Given the description of an element on the screen output the (x, y) to click on. 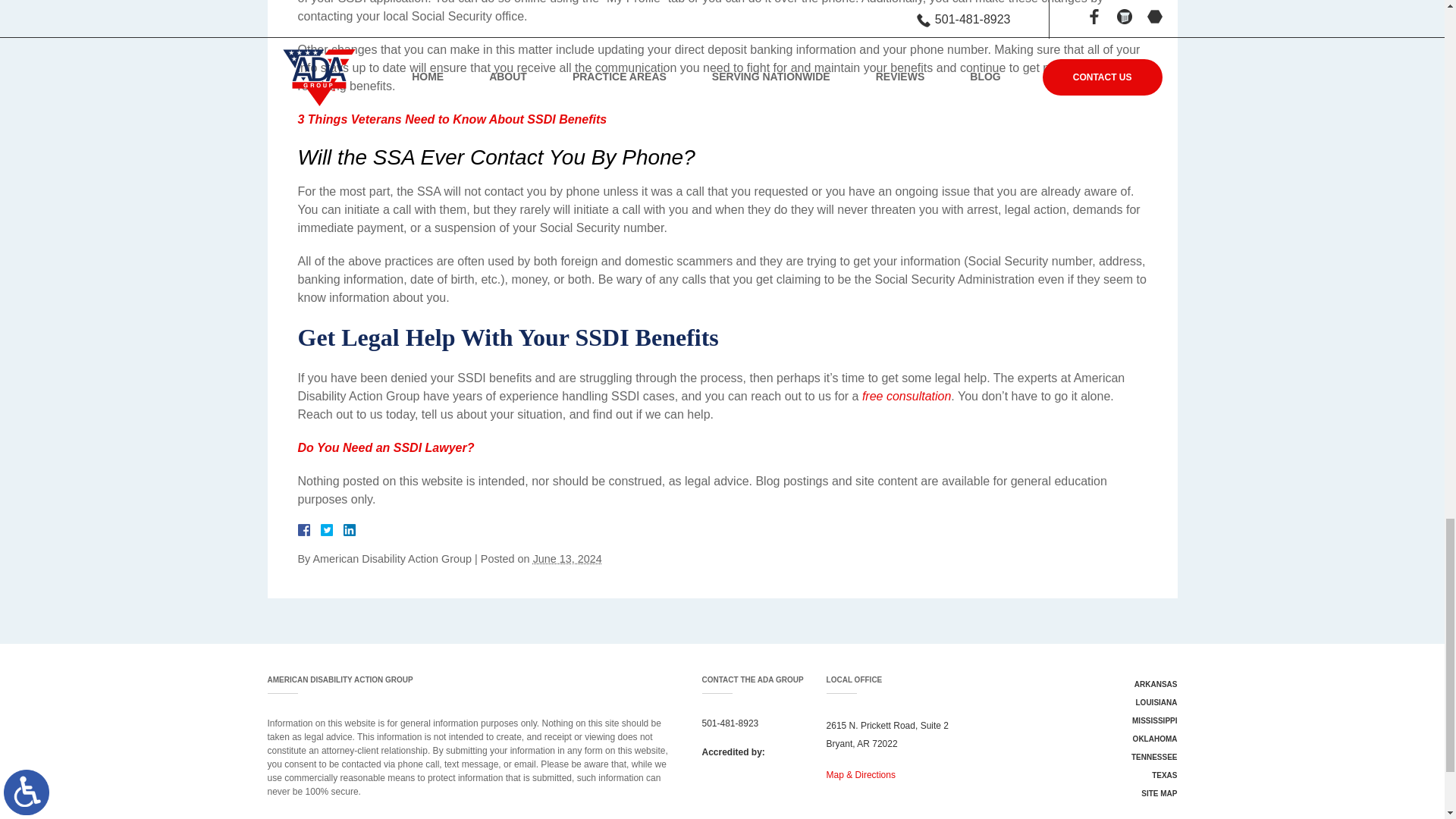
2024-06-13T16:19:03-0700 (567, 558)
3 Things Veterans Need to Know About SSDI Benefits (452, 119)
LinkedIn (342, 530)
free consultation (905, 395)
Do You Need an SSDI Lawyer? (385, 447)
Facebook (321, 530)
Twitter (331, 530)
